Given the description of an element on the screen output the (x, y) to click on. 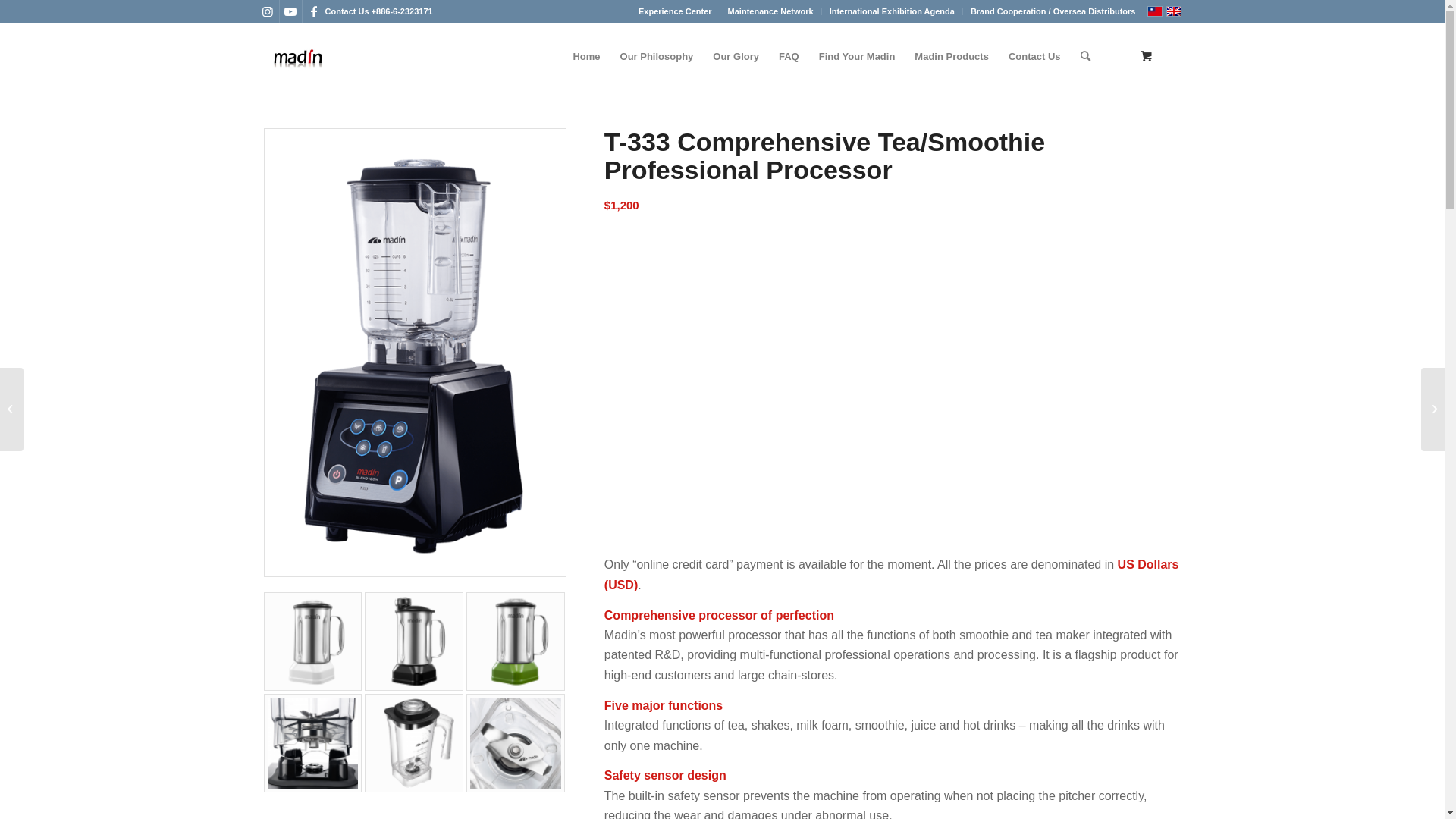
Find Your Madin Element type: text (857, 56)
Maintenance Network Element type: text (770, 11)
Brand Cooperation / Oversea Distributors Element type: text (1052, 11)
Our Philosophy Element type: text (656, 56)
T-333 Professional Counter-top Tea Blender Element type: hover (892, 377)
FAQ Element type: text (788, 56)
Experience Center Element type: text (675, 11)
Our Glory Element type: text (735, 56)
Instagram Element type: hover (267, 11)
Youtube Element type: hover (290, 11)
English Element type: hover (1173, 11)
International Exhibition Agenda Element type: text (891, 11)
Contact Us Element type: text (1034, 56)
Home Element type: text (585, 56)
Facebook Element type: hover (312, 11)
Madin Products Element type: text (951, 56)
